Given the description of an element on the screen output the (x, y) to click on. 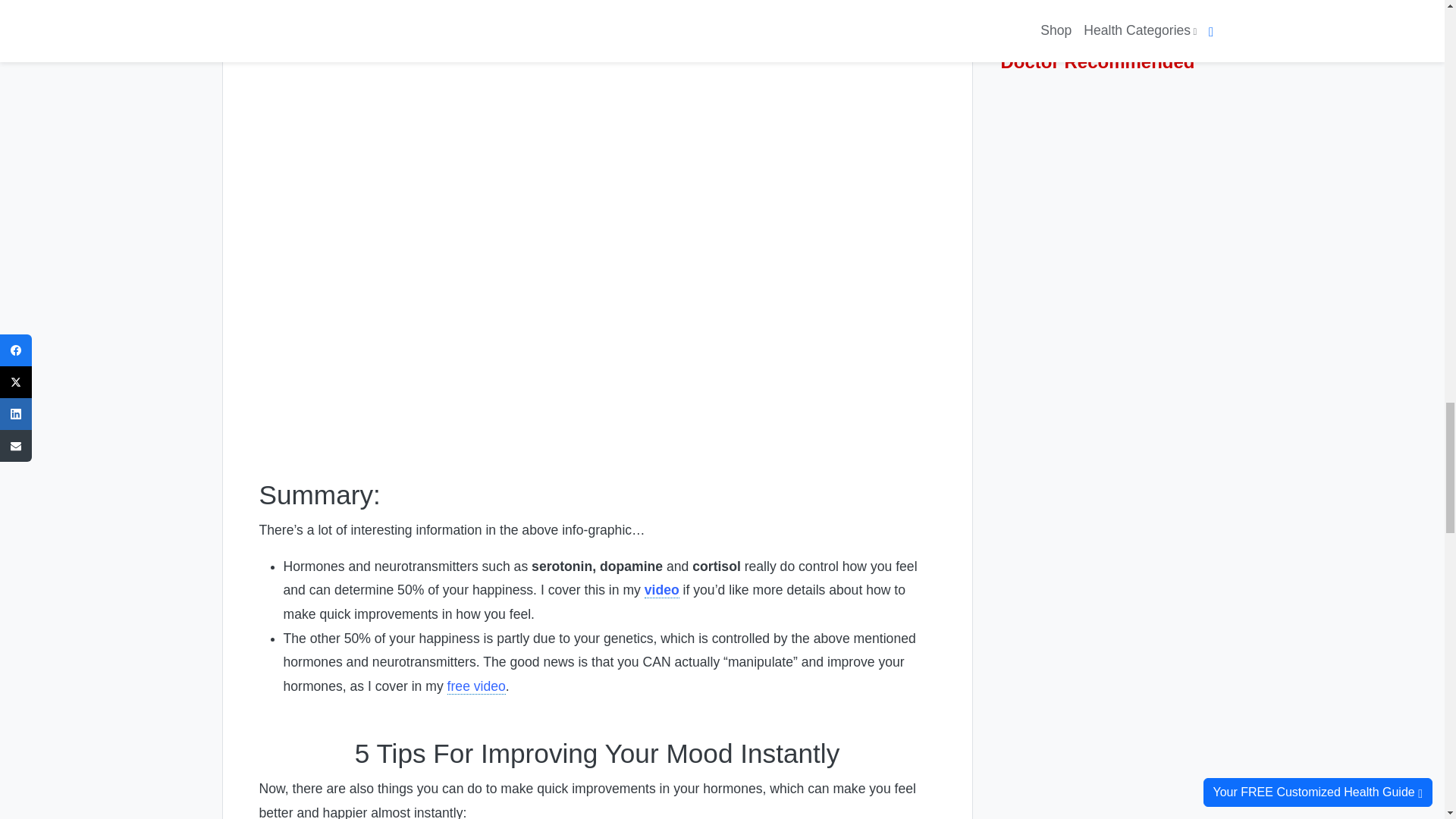
video (662, 590)
free video (475, 686)
